Given the description of an element on the screen output the (x, y) to click on. 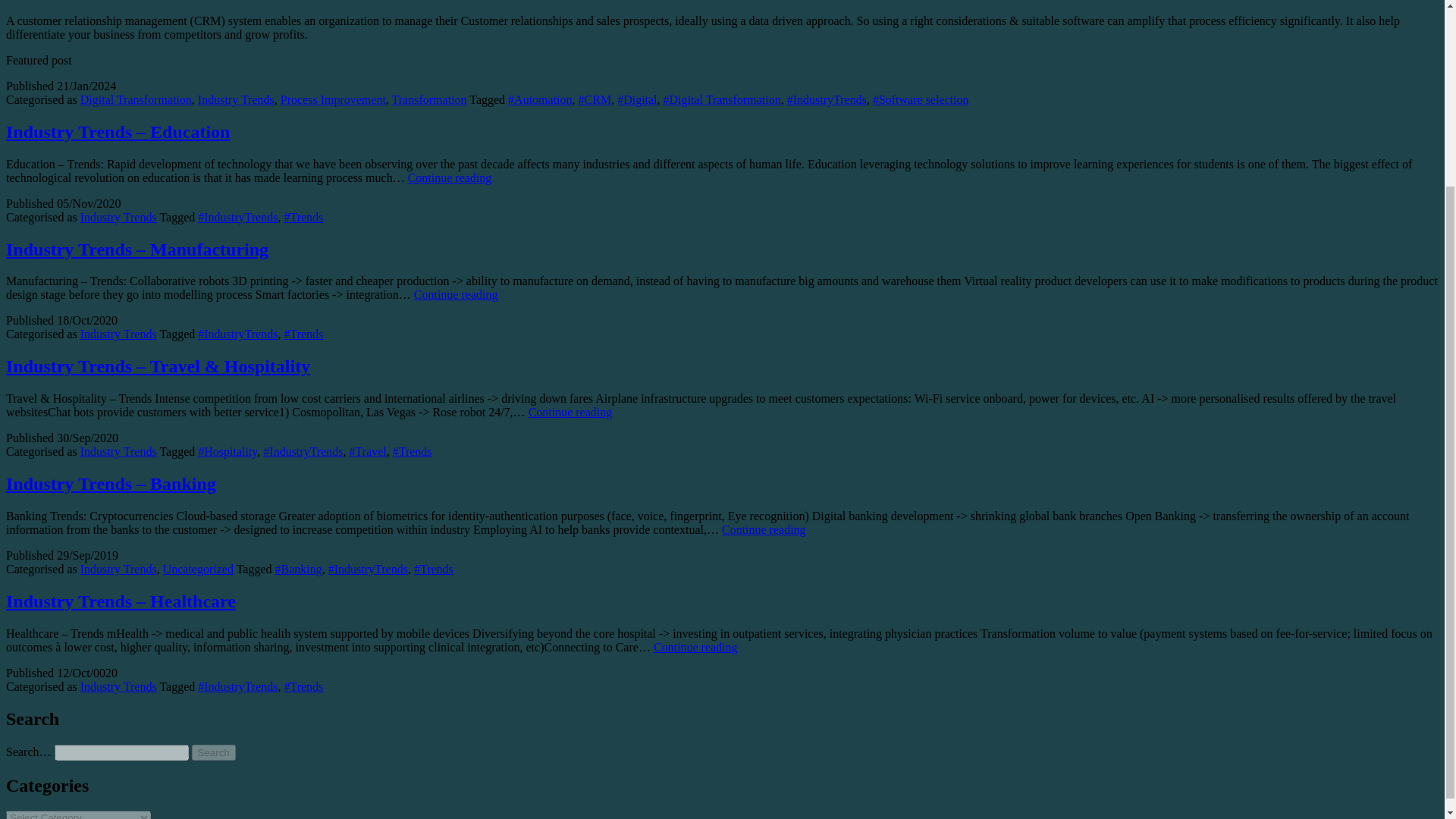
Process Improvement (333, 99)
Search (213, 752)
Industry Trends (118, 333)
Digital Transformation (136, 99)
Transformation (429, 99)
Industry Trends (118, 216)
Industry Trends (118, 451)
Search (213, 752)
Industry Trends (236, 99)
